Given the description of an element on the screen output the (x, y) to click on. 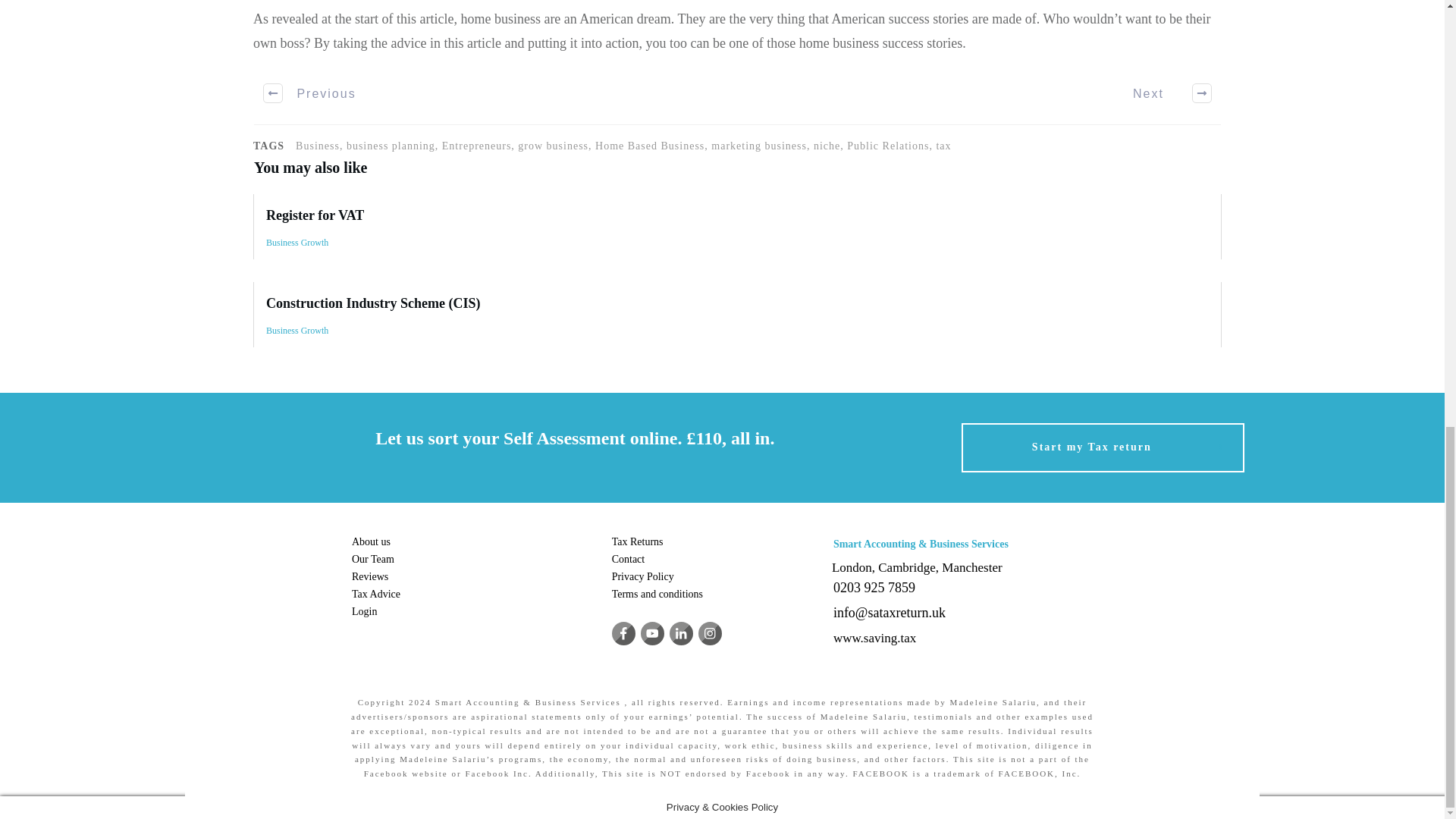
Our Team (373, 559)
Start my Tax return (1102, 447)
Previous (310, 93)
Tax Advice (376, 593)
Contact (628, 559)
Login (364, 611)
Reviews (370, 576)
Business Growth (297, 330)
Register for VAT (737, 226)
Privacy Policy (642, 576)
Business Growth (297, 242)
Next (1163, 93)
Terms and conditions (657, 593)
Register for VAT (315, 215)
About us (371, 541)
